Given the description of an element on the screen output the (x, y) to click on. 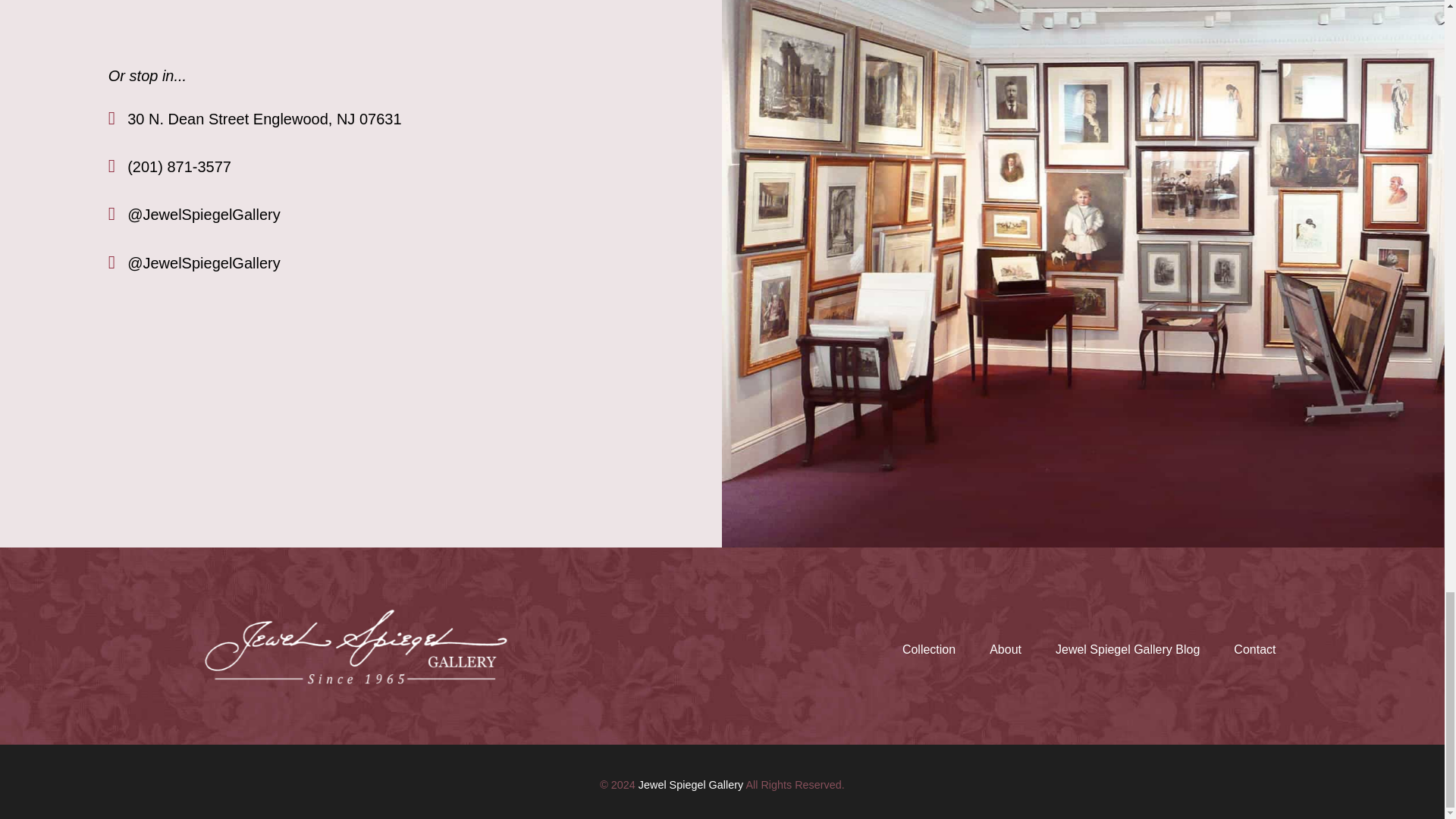
Jewel Spiegel Gallery (690, 784)
Jewel Spiegel Gallery Blog (1127, 649)
logo-white (354, 645)
About (1006, 649)
Collection (928, 649)
Contact (1254, 649)
